Given the description of an element on the screen output the (x, y) to click on. 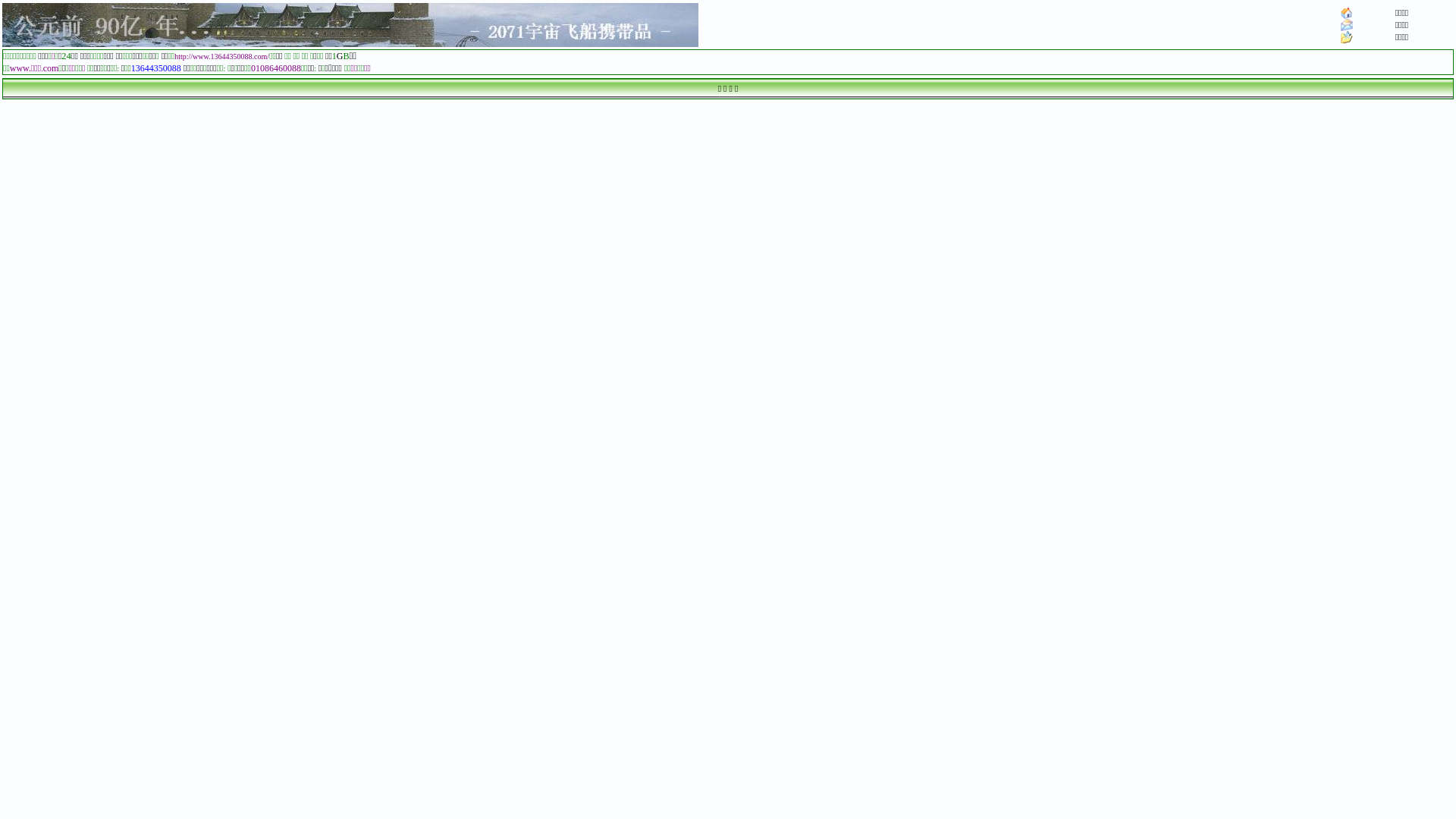
http://www.13644350088.com/ Element type: text (221, 55)
G Element type: text (339, 55)
01086460088 Element type: text (276, 67)
